Given the description of an element on the screen output the (x, y) to click on. 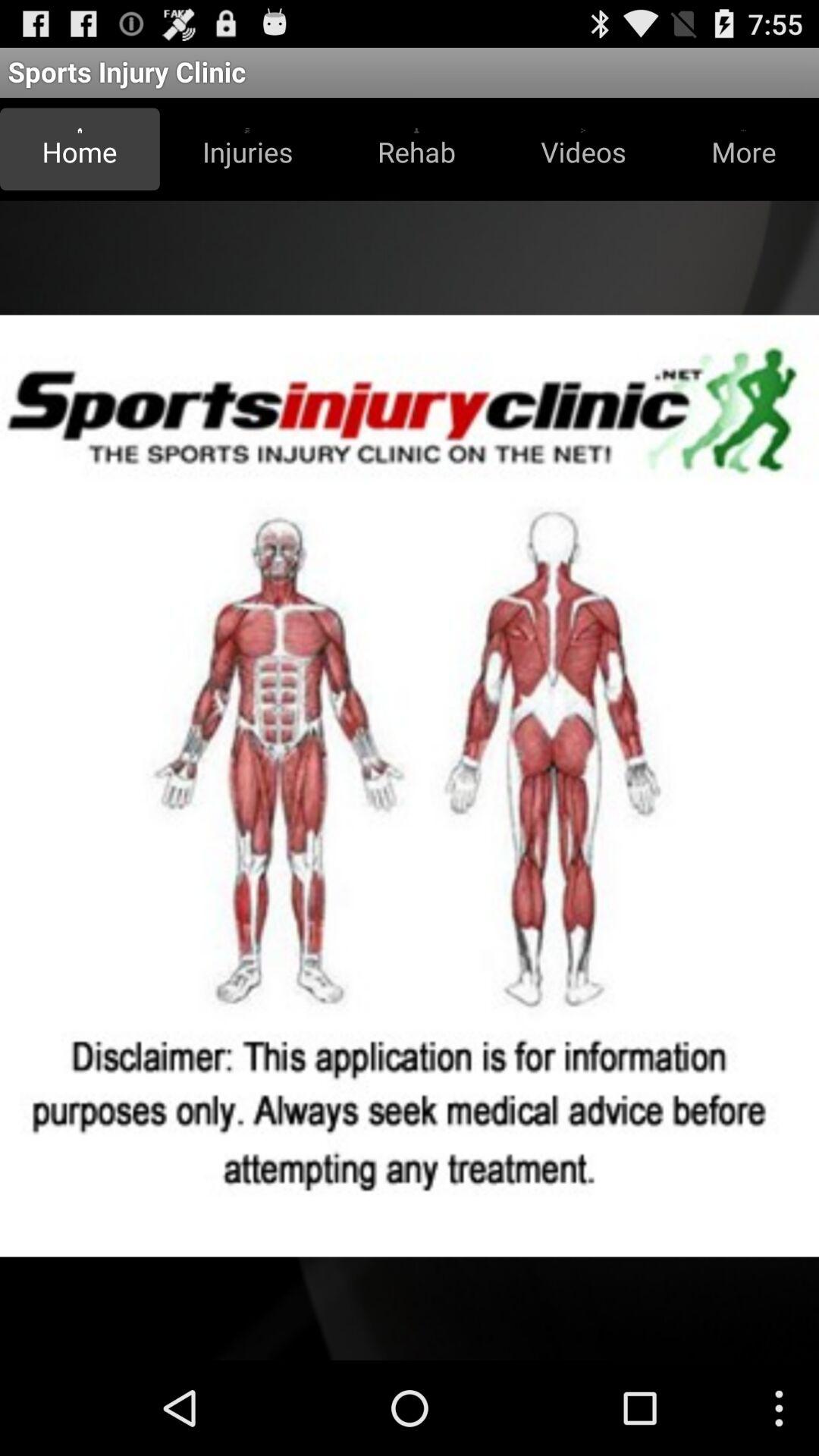
turn off the item below the sports injury clinic (246, 149)
